Given the description of an element on the screen output the (x, y) to click on. 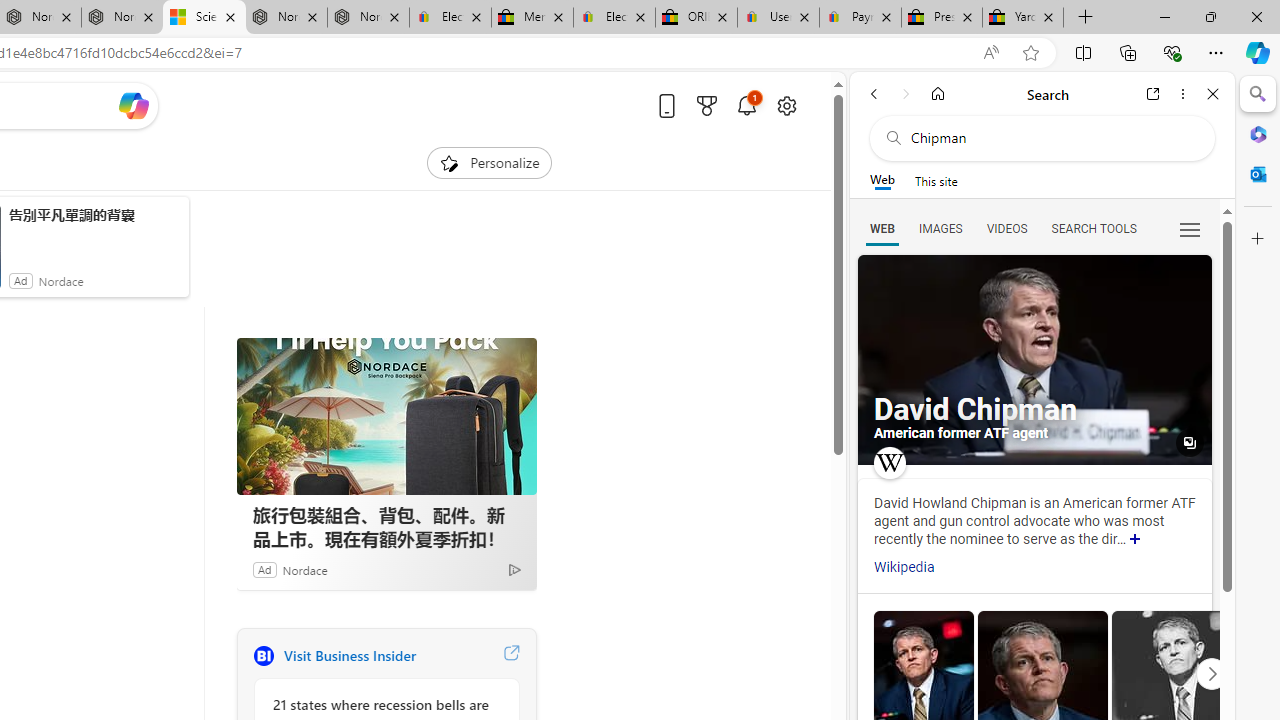
Microsoft rewards (707, 105)
IMAGES (939, 228)
All images (1190, 443)
Open settings (786, 105)
Notifications (746, 105)
Click to scroll right (1211, 672)
